Given the description of an element on the screen output the (x, y) to click on. 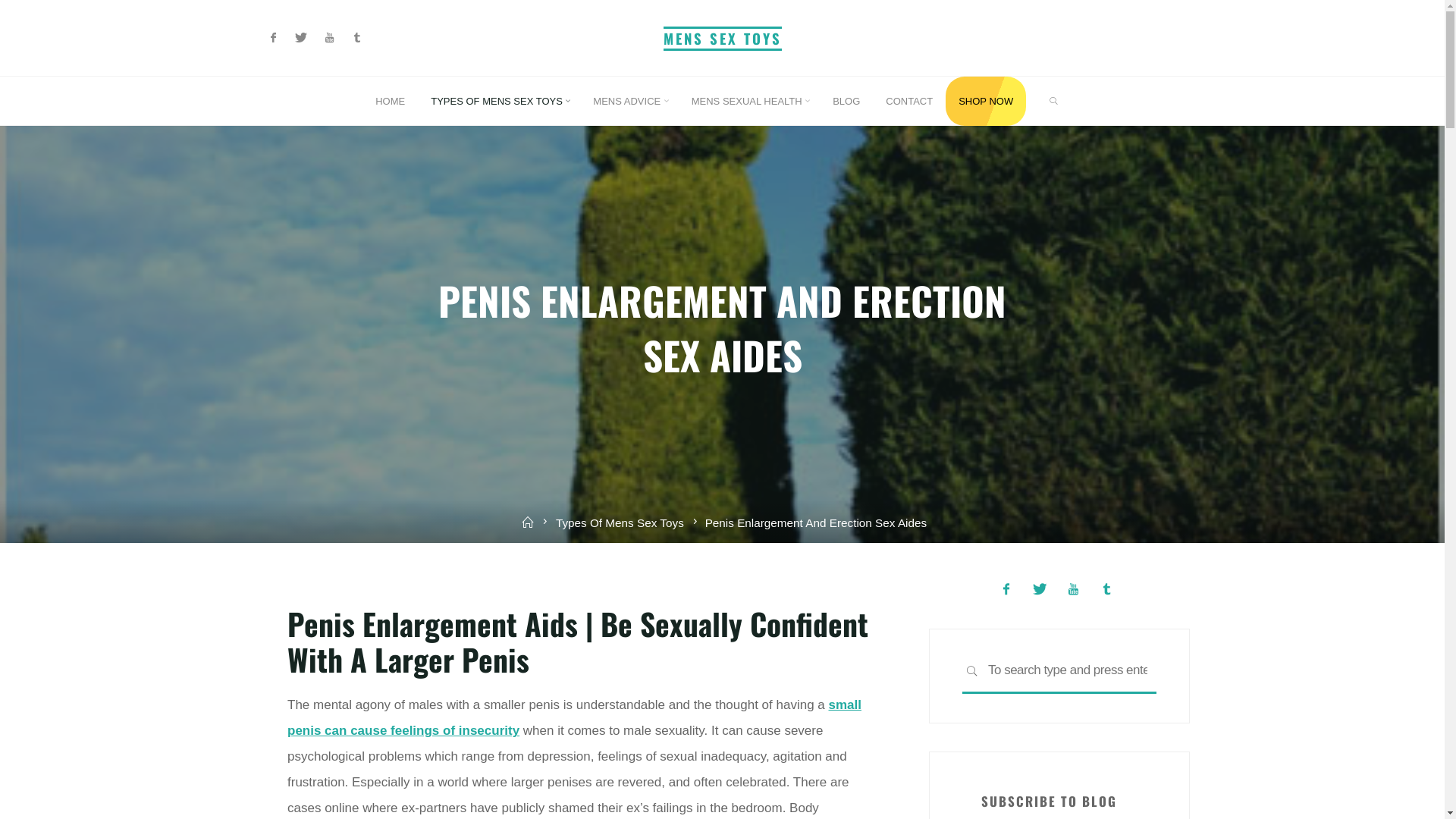
Twitter Element type: hover (1040, 588)
SHOP NOW Element type: text (985, 100)
Tumblr Element type: hover (1106, 588)
Facebook Element type: hover (1005, 588)
Facebook Element type: hover (273, 38)
CONTACT Element type: text (908, 100)
HOME Element type: text (389, 100)
MENS ADVICE Element type: text (628, 100)
Tumblr Element type: hover (357, 38)
MENS SEXUAL HEALTH Element type: text (748, 100)
TYPES OF MENS SEX TOYS Element type: text (498, 100)
SEARCH Element type: text (1053, 101)
MENS SEX TOYS Element type: text (721, 37)
Home Element type: text (527, 522)
BLOG Element type: text (845, 100)
Youtube Element type: hover (1073, 588)
Twitter Element type: hover (301, 38)
Youtube Element type: hover (329, 38)
small penis can cause feelings of insecurity Element type: text (574, 717)
Types Of Mens Sex Toys Element type: text (619, 522)
SEARCH Element type: text (972, 671)
